Given the description of an element on the screen output the (x, y) to click on. 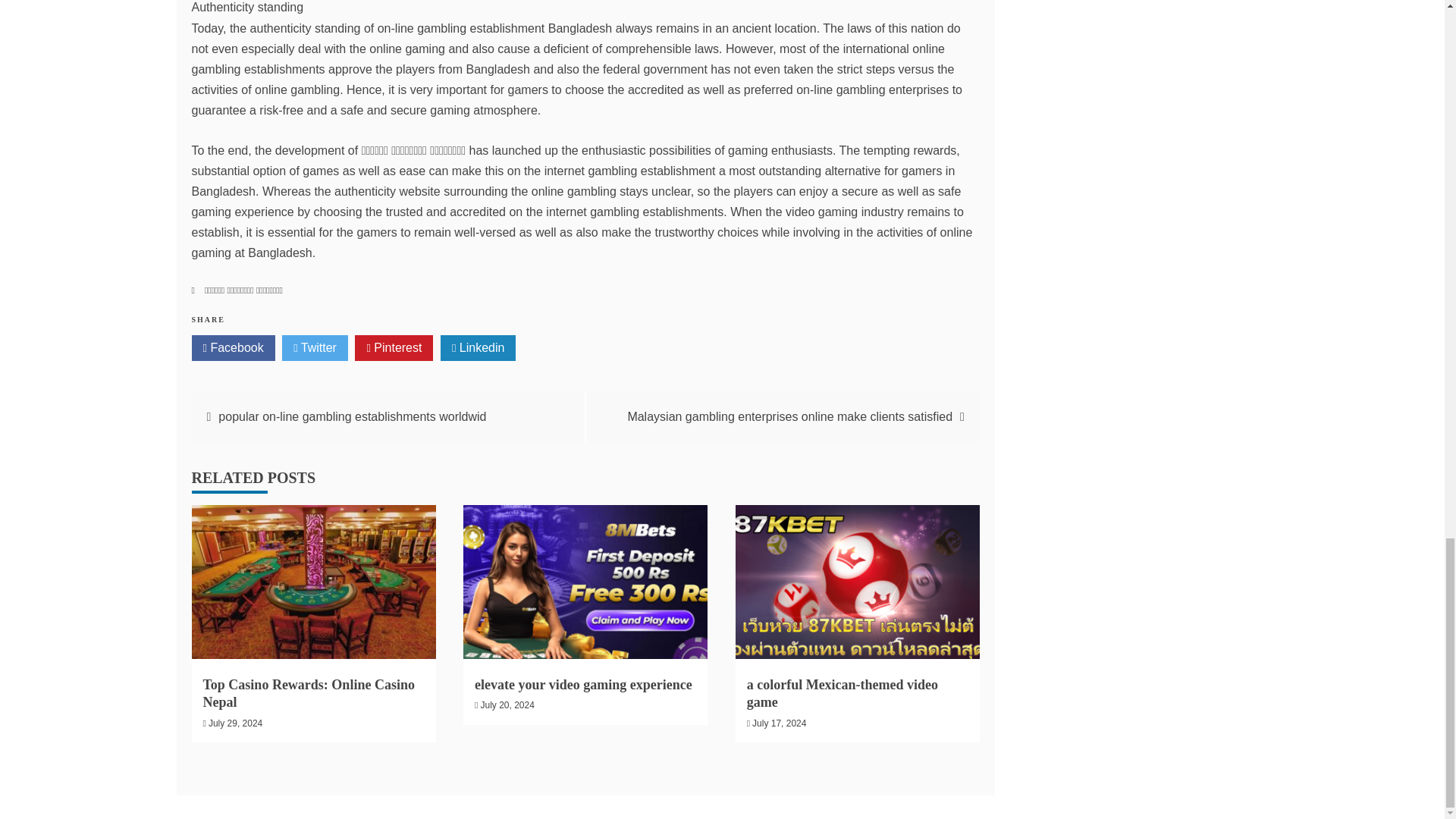
July 29, 2024 (235, 723)
Facebook (232, 347)
Pinterest (393, 347)
Malaysian gambling enterprises online make clients satisfied (789, 416)
Top Casino Rewards: Online Casino Nepal (308, 693)
popular on-line gambling establishments worldwid (352, 416)
Twitter (314, 347)
Linkedin (478, 347)
